Given the description of an element on the screen output the (x, y) to click on. 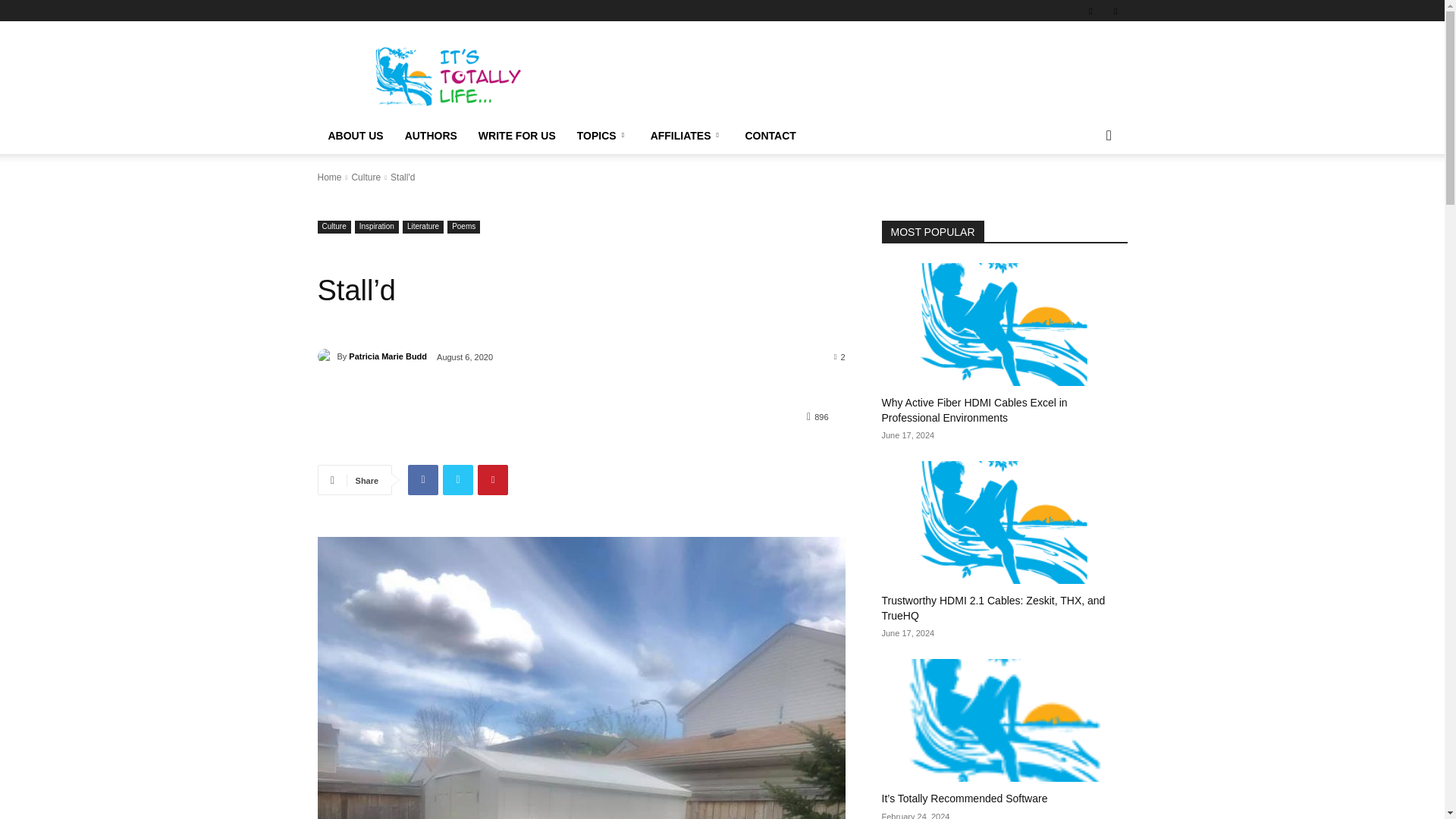
TOPICS (603, 135)
ABOUT US (355, 135)
Twitter (457, 480)
WRITE FOR US (516, 135)
View all posts in Culture (365, 176)
Twitter (1114, 10)
Pinterest (492, 480)
Facebook (1090, 10)
Facebook (422, 480)
Patricia Marie Budd (326, 355)
AUTHORS (430, 135)
